Given the description of an element on the screen output the (x, y) to click on. 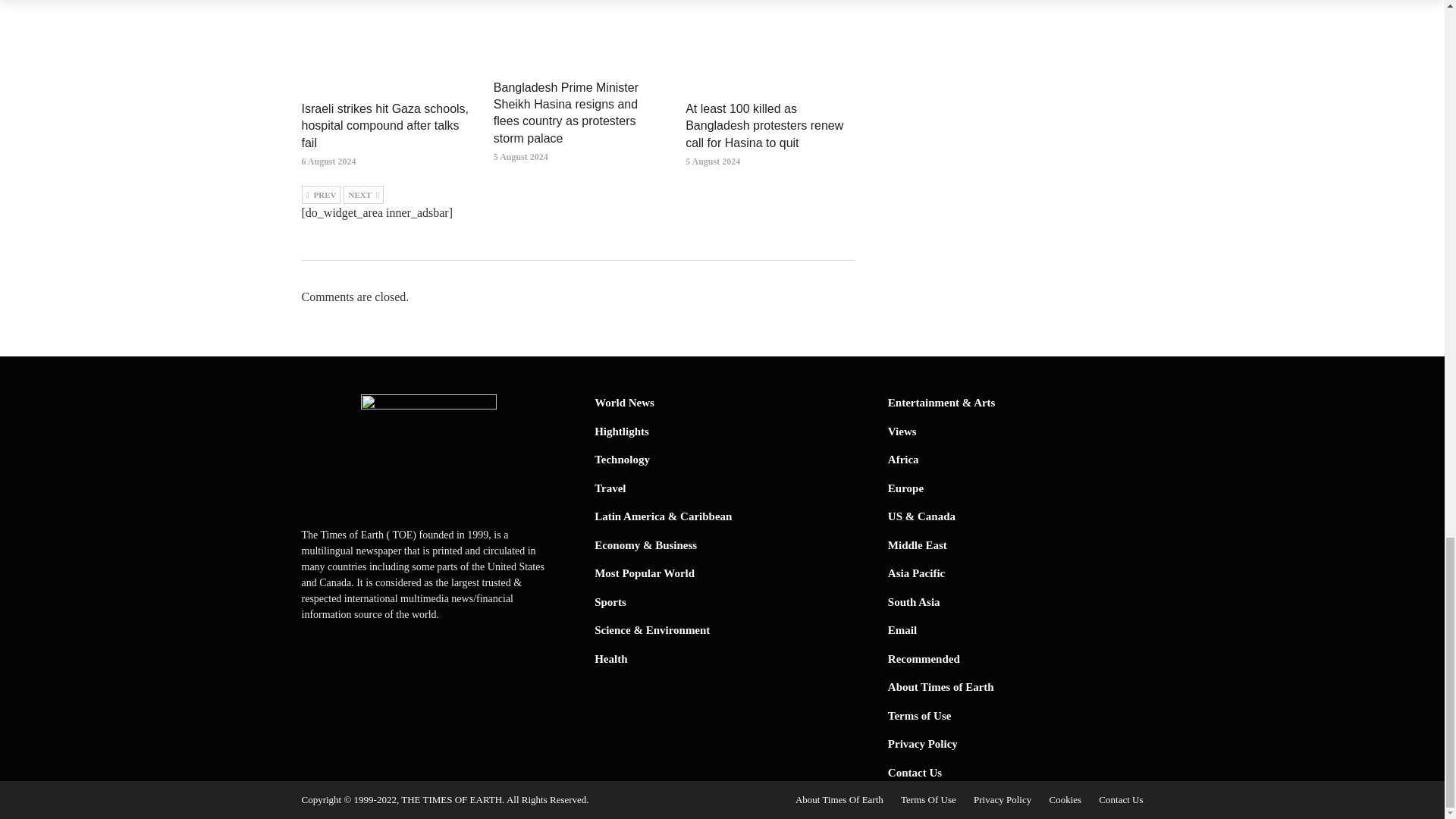
Previous (320, 194)
Next (363, 194)
